Given the description of an element on the screen output the (x, y) to click on. 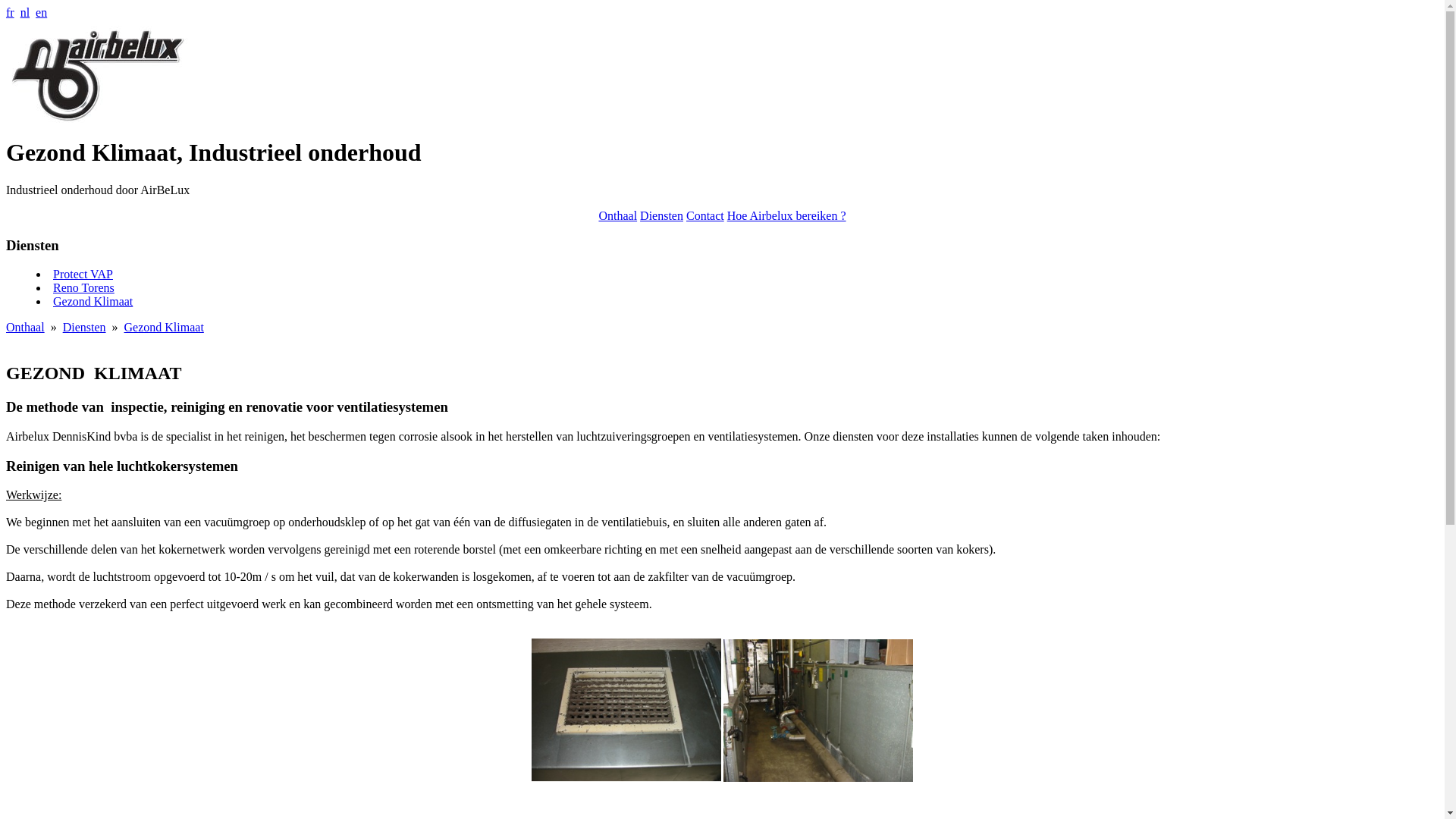
Diensten Element type: text (84, 326)
Gezond Klimaat Element type: text (92, 300)
Diensten Element type: text (661, 215)
fr Element type: text (10, 12)
en Element type: text (41, 12)
Protect VAP Element type: text (82, 273)
Gezond Klimaat Element type: text (163, 326)
Onthaal Element type: text (617, 215)
Reno Torens Element type: text (83, 287)
Contact Element type: text (705, 215)
Hoe Airbelux bereiken ? Element type: text (786, 215)
nl Element type: text (24, 12)
Onthaal Element type: text (25, 326)
